Given the description of an element on the screen output the (x, y) to click on. 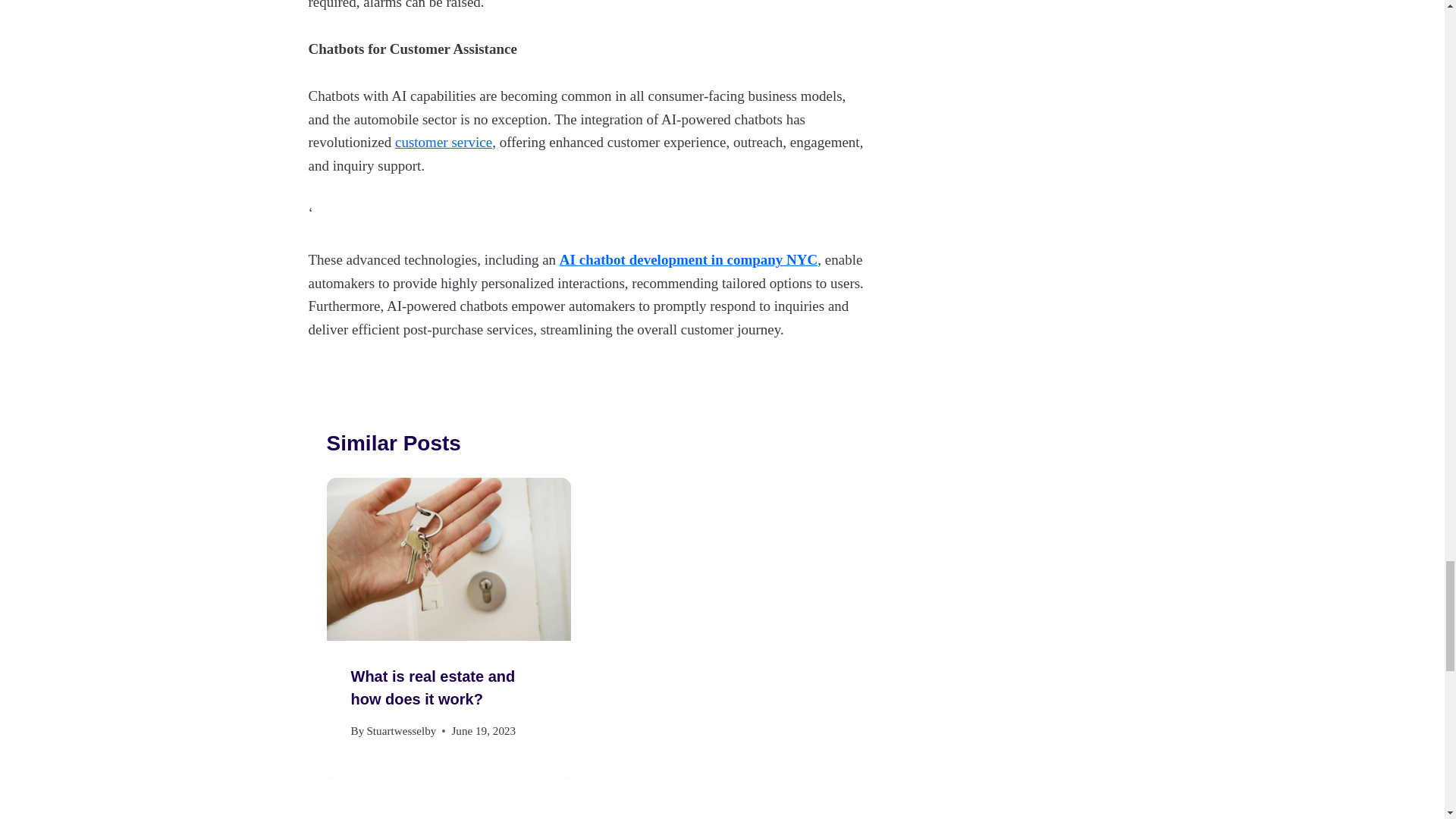
customer service (443, 141)
AI chatbot development in company NYC (687, 259)
Stuartwesselby (400, 730)
What is real estate and how does it work? 4 (448, 558)
What is real estate and how does it work? (432, 687)
